Given the description of an element on the screen output the (x, y) to click on. 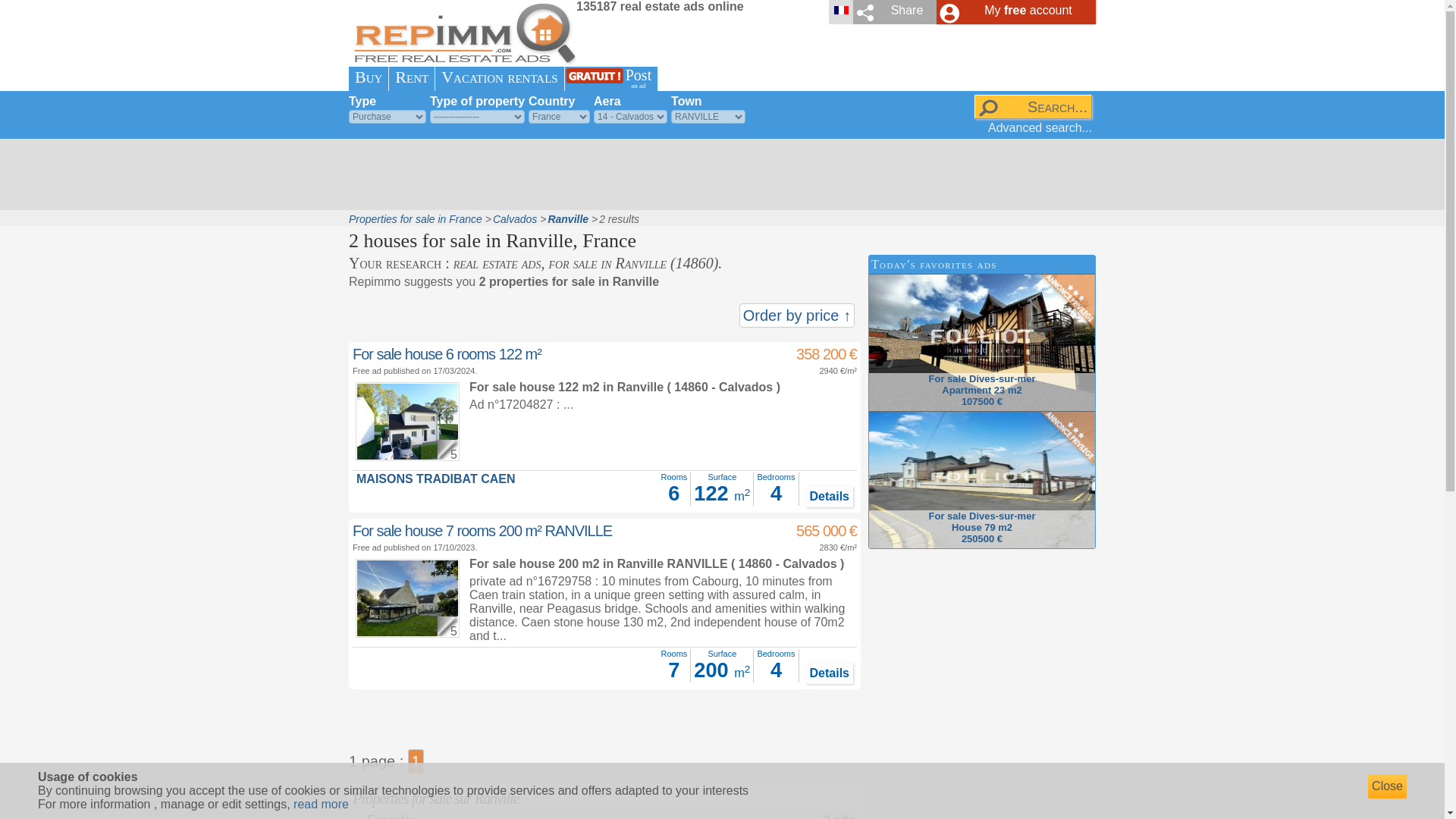
publish a free real estate ad (638, 78)
Search... (1033, 106)
Calvados (515, 218)
5 photos (445, 623)
Vacation rentals (499, 76)
Ranville (567, 218)
Search... (1033, 106)
Advanced search... (1040, 127)
Calvados (515, 218)
Properties for sale in France (415, 218)
MAISONS TRADIBAT CAEN (638, 78)
For sale (435, 478)
Buy (388, 816)
5 photos (368, 76)
